Given the description of an element on the screen output the (x, y) to click on. 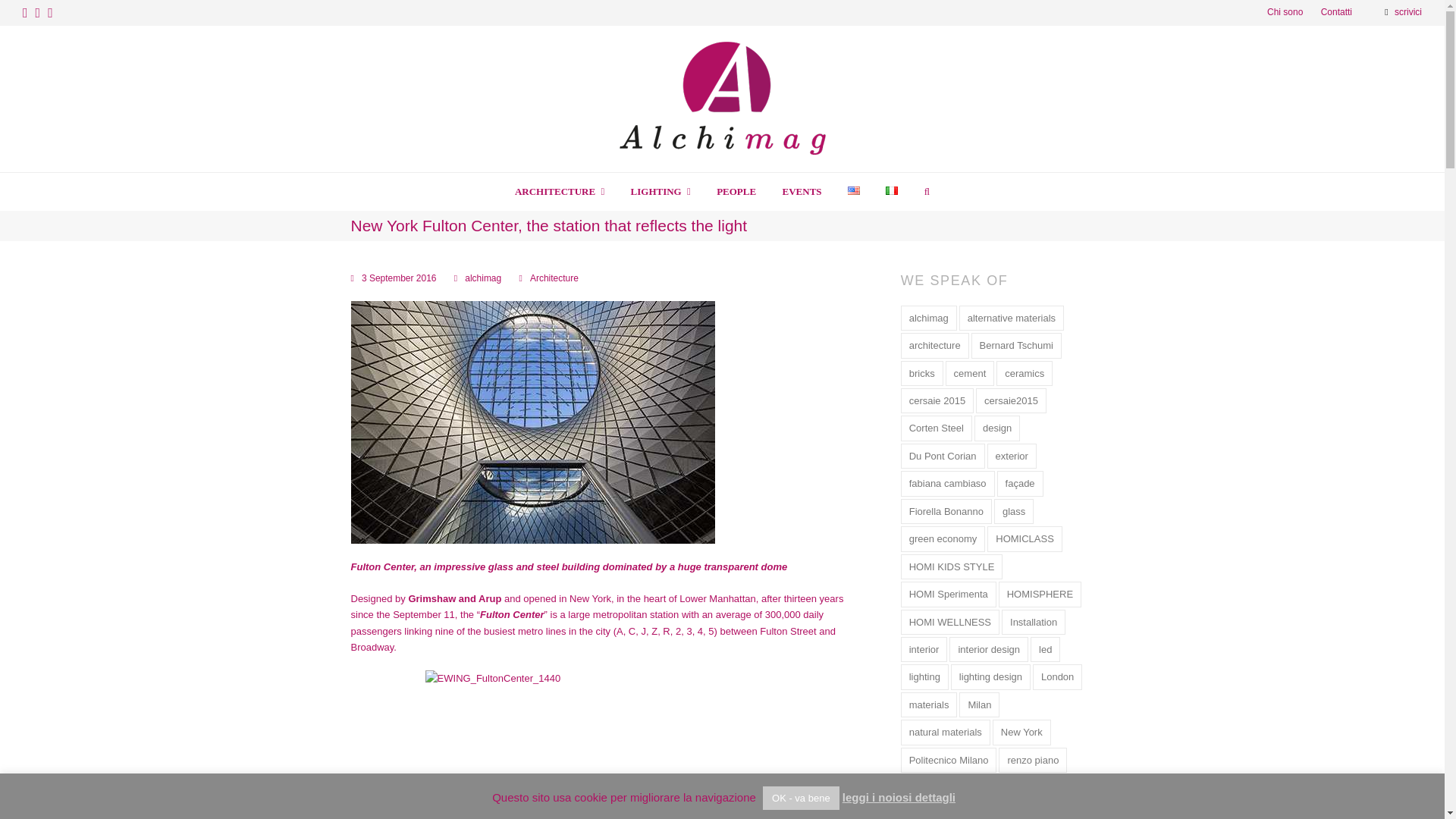
LinkedIn (50, 12)
ARCHITECTURE (559, 191)
Pinterest (37, 12)
Architecture (553, 277)
scrivici (1408, 11)
PEOPLE (736, 191)
LinkedIn (50, 12)
LIGHTING (659, 191)
Facebook (25, 12)
alchimag (482, 277)
Posts by alchimag (482, 277)
Pinterest (37, 12)
Facebook (25, 12)
Contatti (1336, 11)
EVENTS (801, 191)
